Given the description of an element on the screen output the (x, y) to click on. 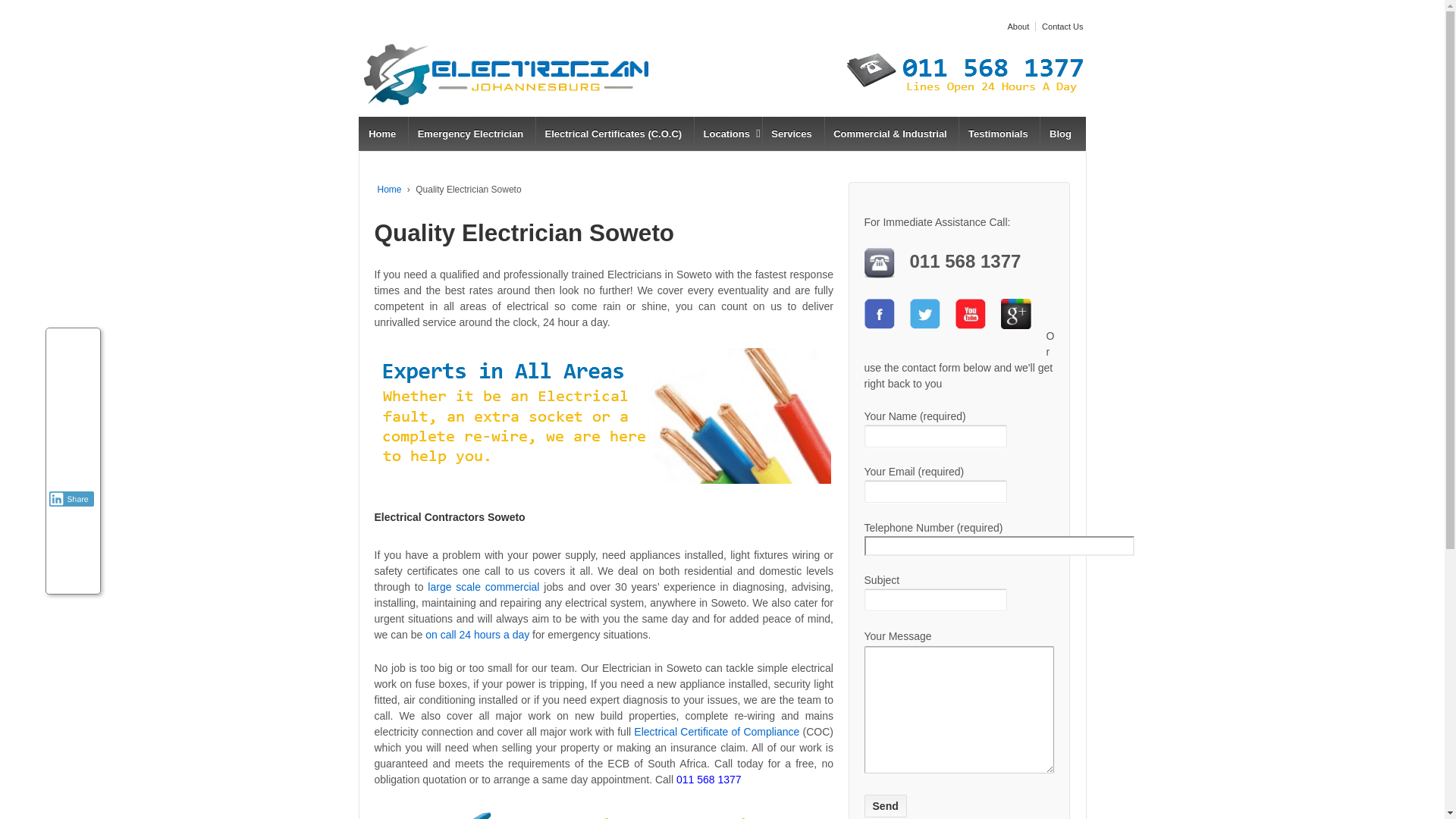
Testimonials (997, 133)
Home (381, 133)
24 hour Electrician Johannesburg (469, 133)
Services (791, 133)
Share (71, 498)
Contact Us (1060, 26)
Quality Electrician Soweto (524, 232)
Locations (726, 133)
large scale commercial (483, 586)
Electrical Certificate of Compliance (716, 731)
About (1016, 26)
Send (885, 805)
Send (885, 805)
on call 24 hours a day (477, 634)
Emergency Electrician (469, 133)
